Given the description of an element on the screen output the (x, y) to click on. 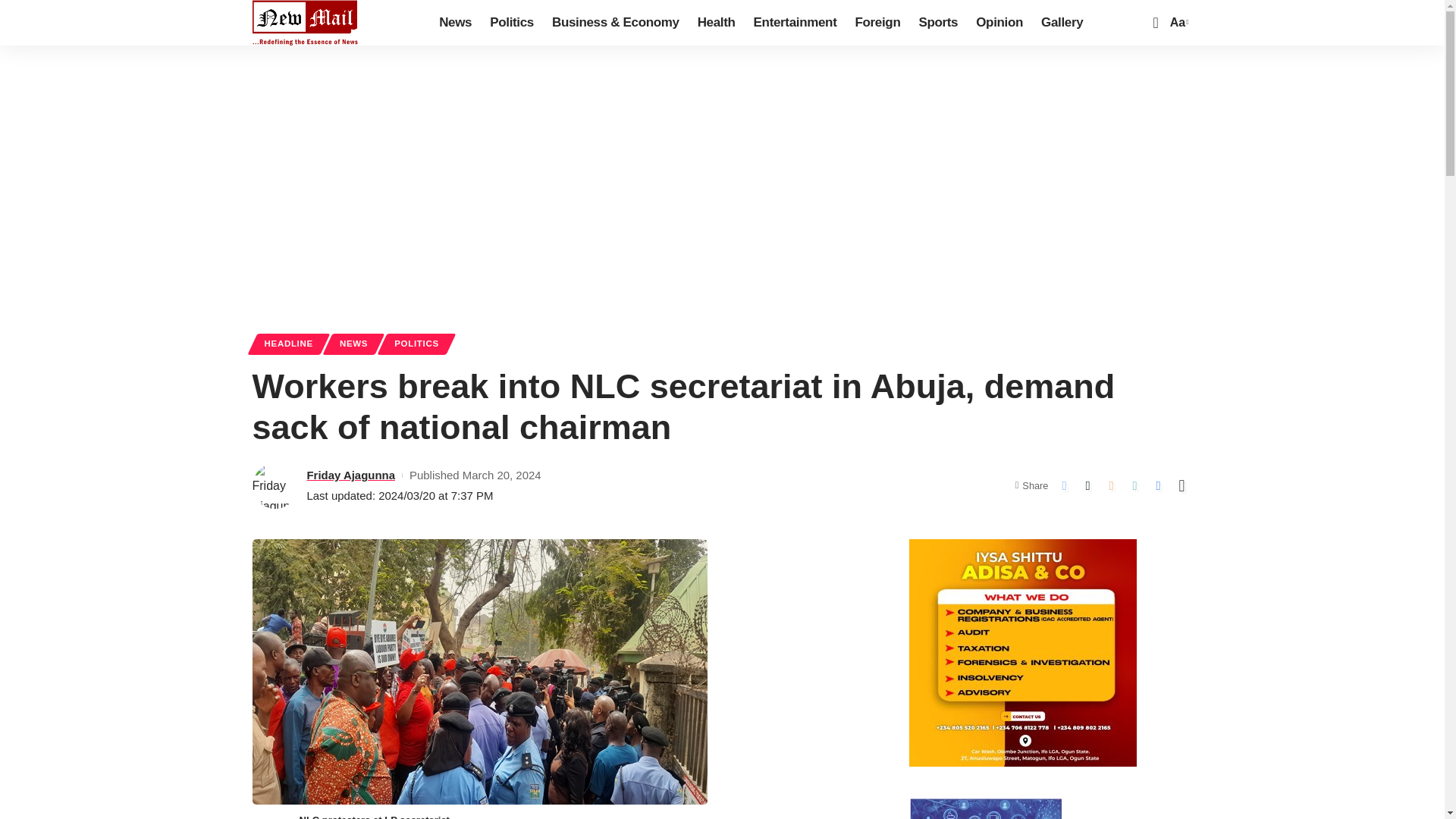
Entertainment (794, 22)
News (454, 22)
Politics (511, 22)
Foreign (876, 22)
Aa (1177, 22)
Opinion (999, 22)
Sports (937, 22)
Gallery (1062, 22)
Health (716, 22)
New Mail Nigeria (304, 22)
